Given the description of an element on the screen output the (x, y) to click on. 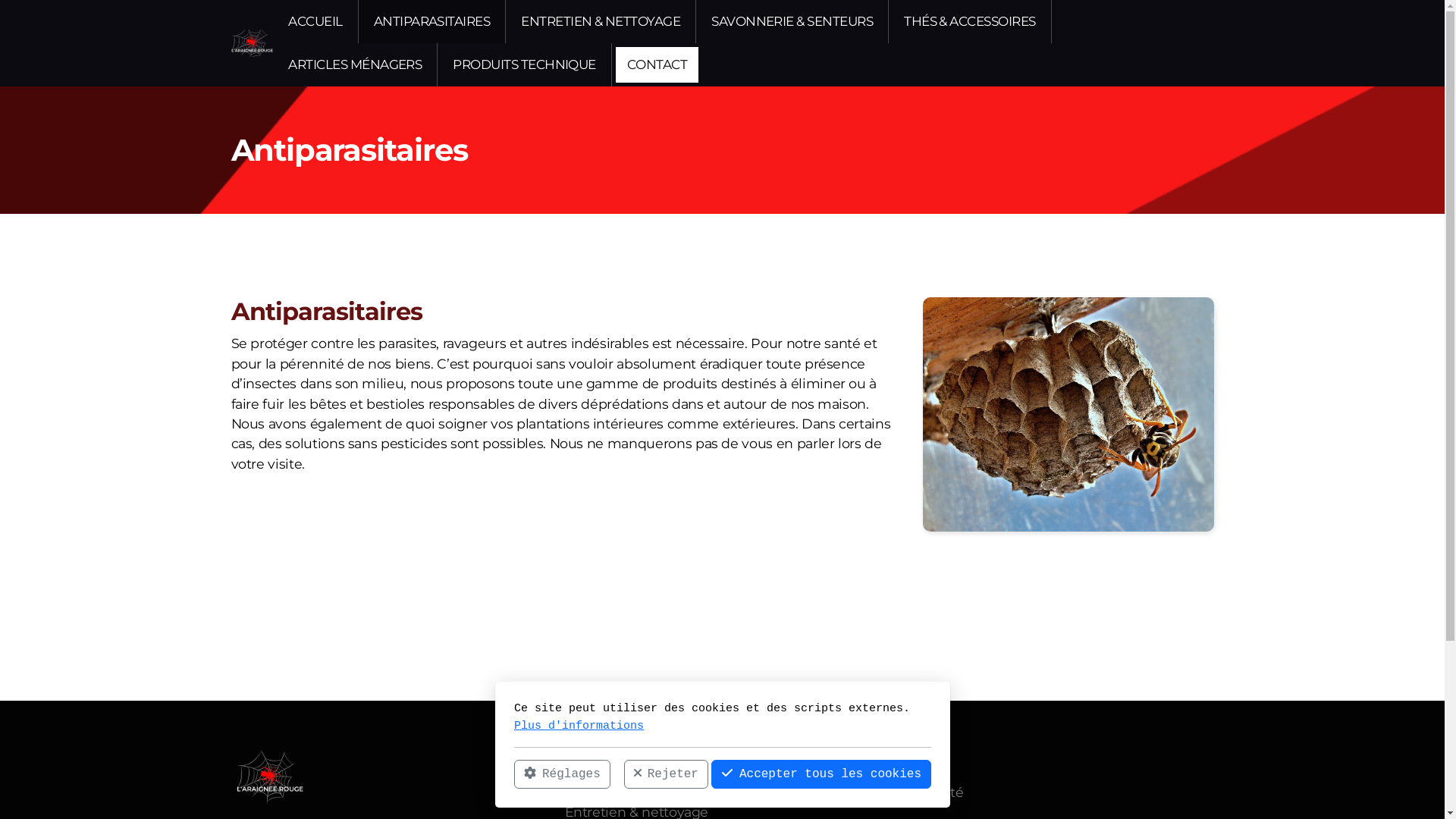
SAVONNERIE & SENTEURS Element type: text (792, 21)
Plus d'informations Element type: text (578, 724)
ANTIPARASITAIRES Element type: text (432, 21)
PRODUITS TECHNIQUE Element type: text (524, 64)
Rejeter Element type: text (665, 773)
Accueil Element type: text (588, 771)
ACCUEIL Element type: text (315, 21)
Accepter tous les cookies Element type: text (820, 773)
Antiparasitaires Element type: text (614, 792)
ENTRETIEN & NETTOYAGE Element type: text (600, 21)
CONTACT Element type: text (656, 64)
Conditions d'utilisation Element type: text (861, 771)
